Given the description of an element on the screen output the (x, y) to click on. 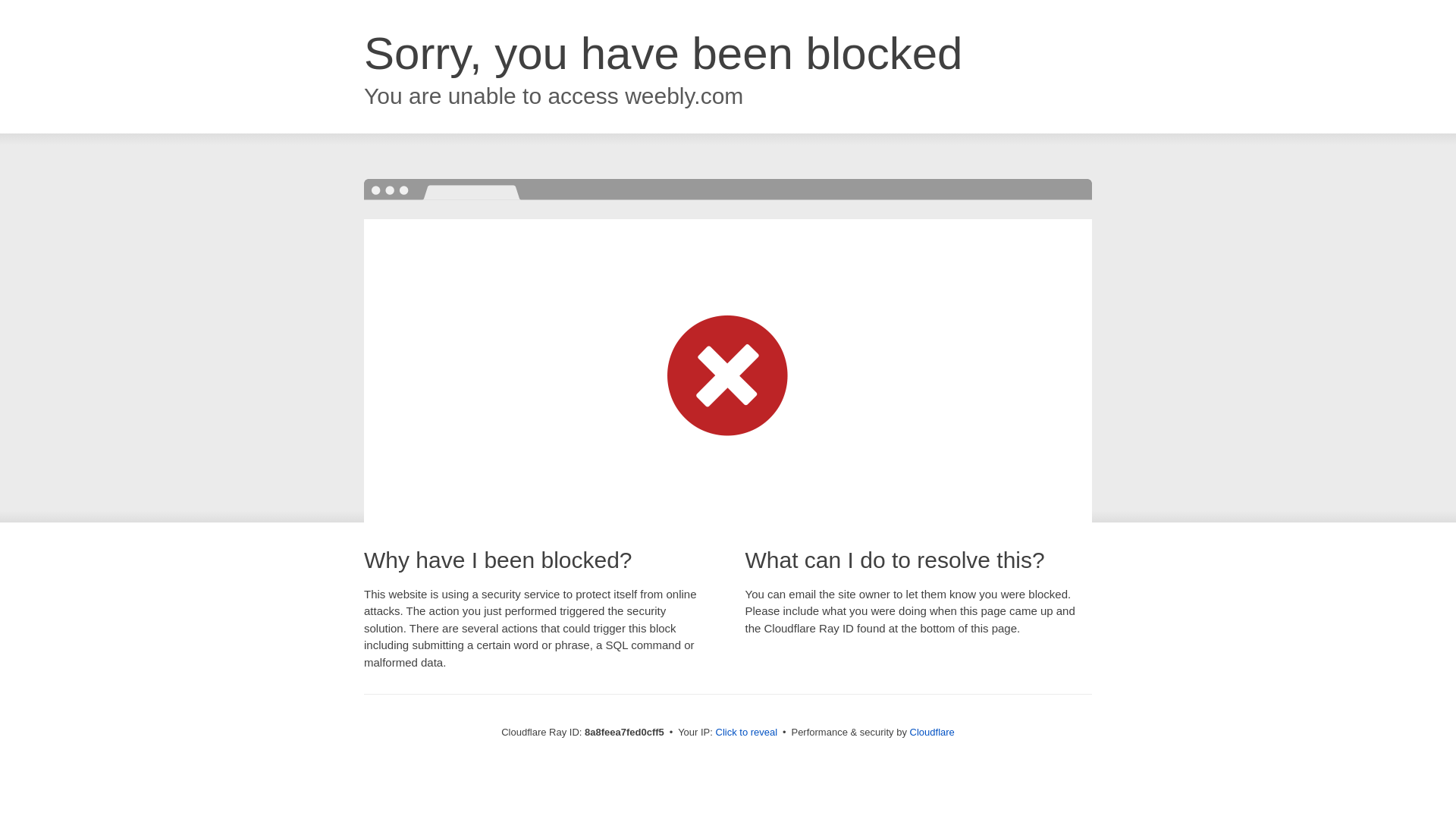
Cloudflare (932, 731)
Click to reveal (746, 732)
